Given the description of an element on the screen output the (x, y) to click on. 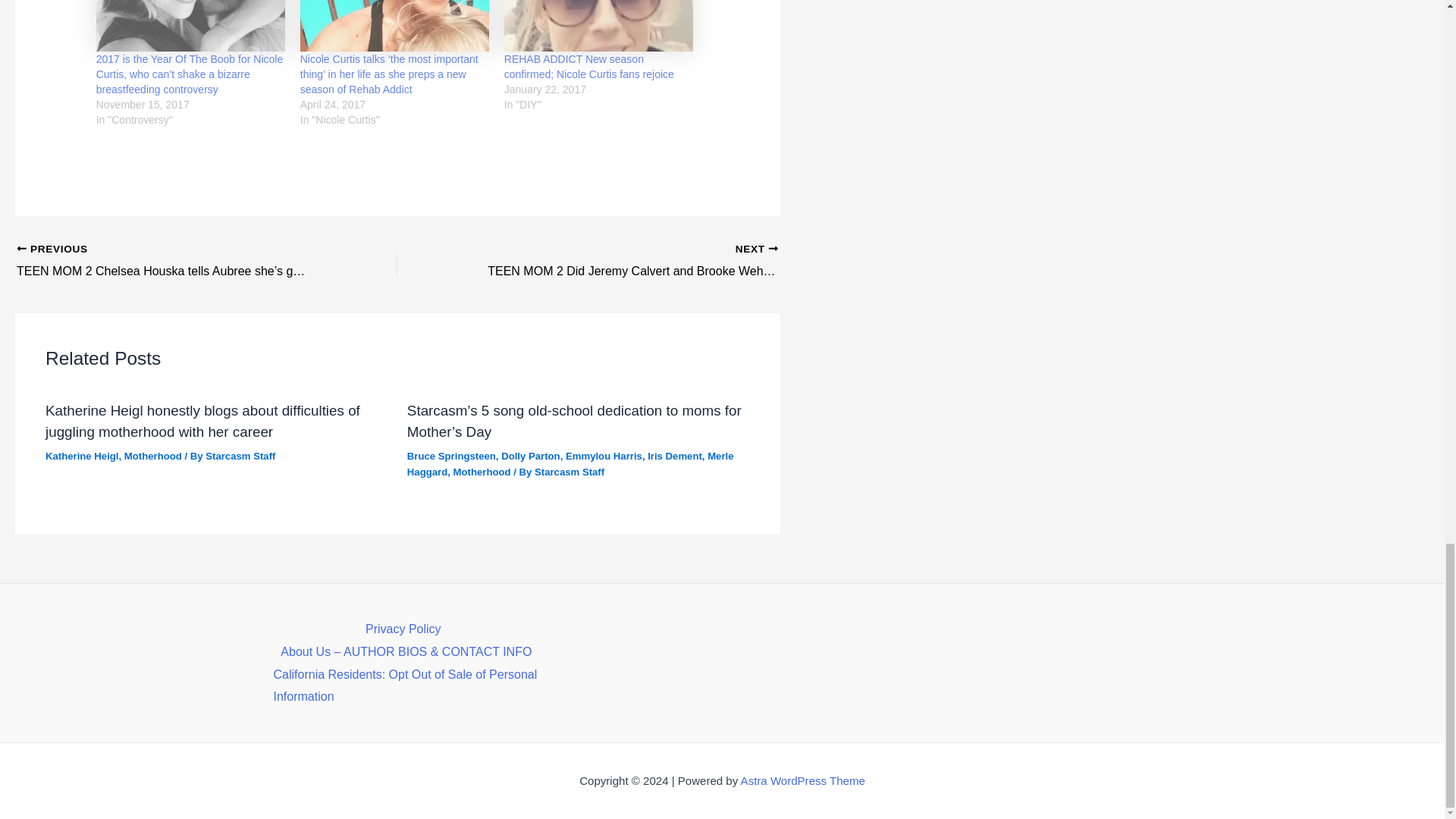
View all posts by Starcasm Staff (569, 471)
TEEN MOM 2 Did Jeremy Calvert and Brooke Wehr break up? (624, 261)
View all posts by Starcasm Staff (240, 455)
